Given the description of an element on the screen output the (x, y) to click on. 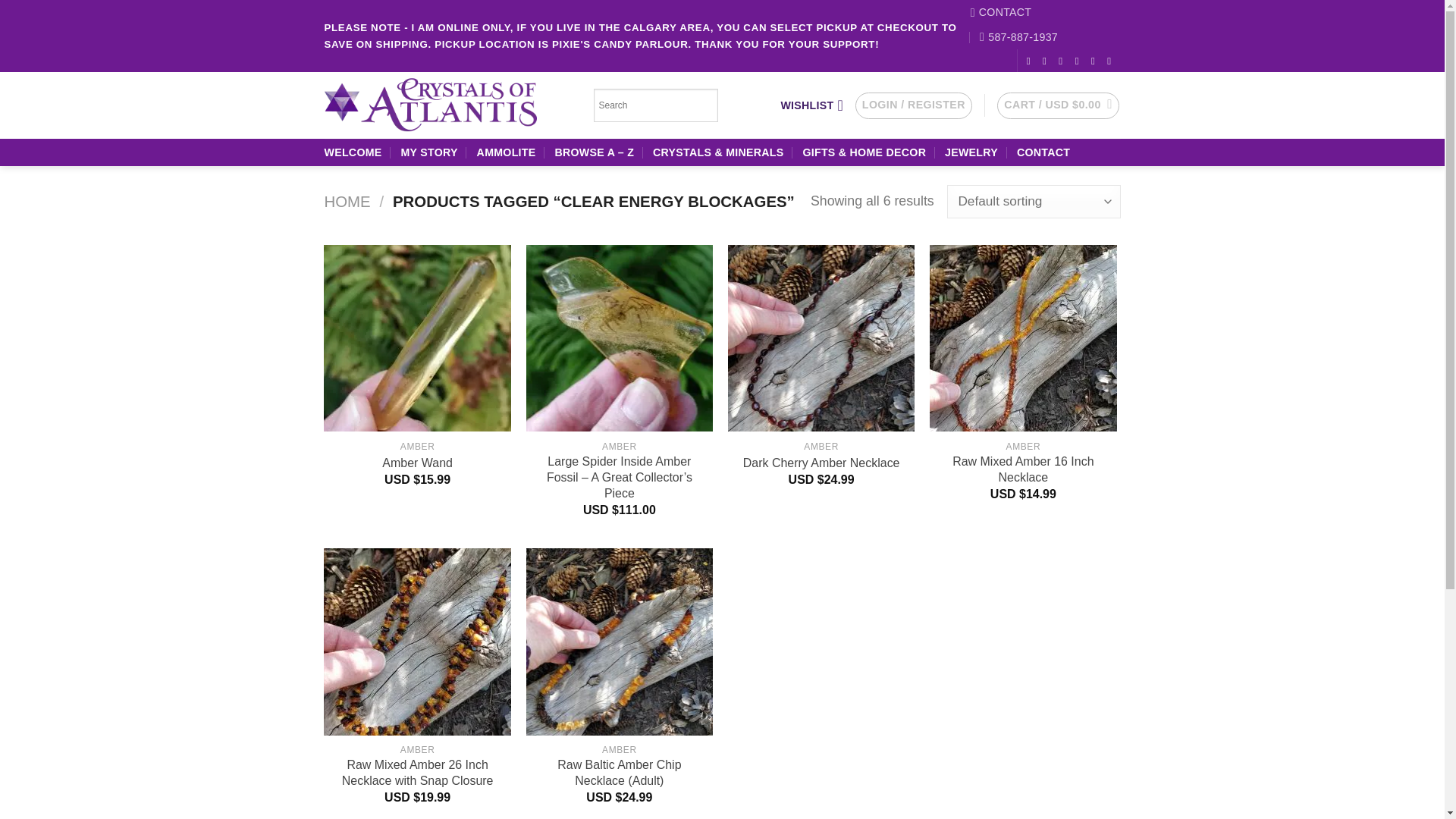
Login (914, 105)
WELCOME (352, 152)
CONTACT (1001, 12)
JEWELRY (970, 152)
MY STORY (428, 152)
AMMOLITE (506, 152)
587-887-1937 (1018, 37)
587-887-1937 (1018, 37)
Amber Wand (416, 463)
HOME (347, 201)
